Given the description of an element on the screen output the (x, y) to click on. 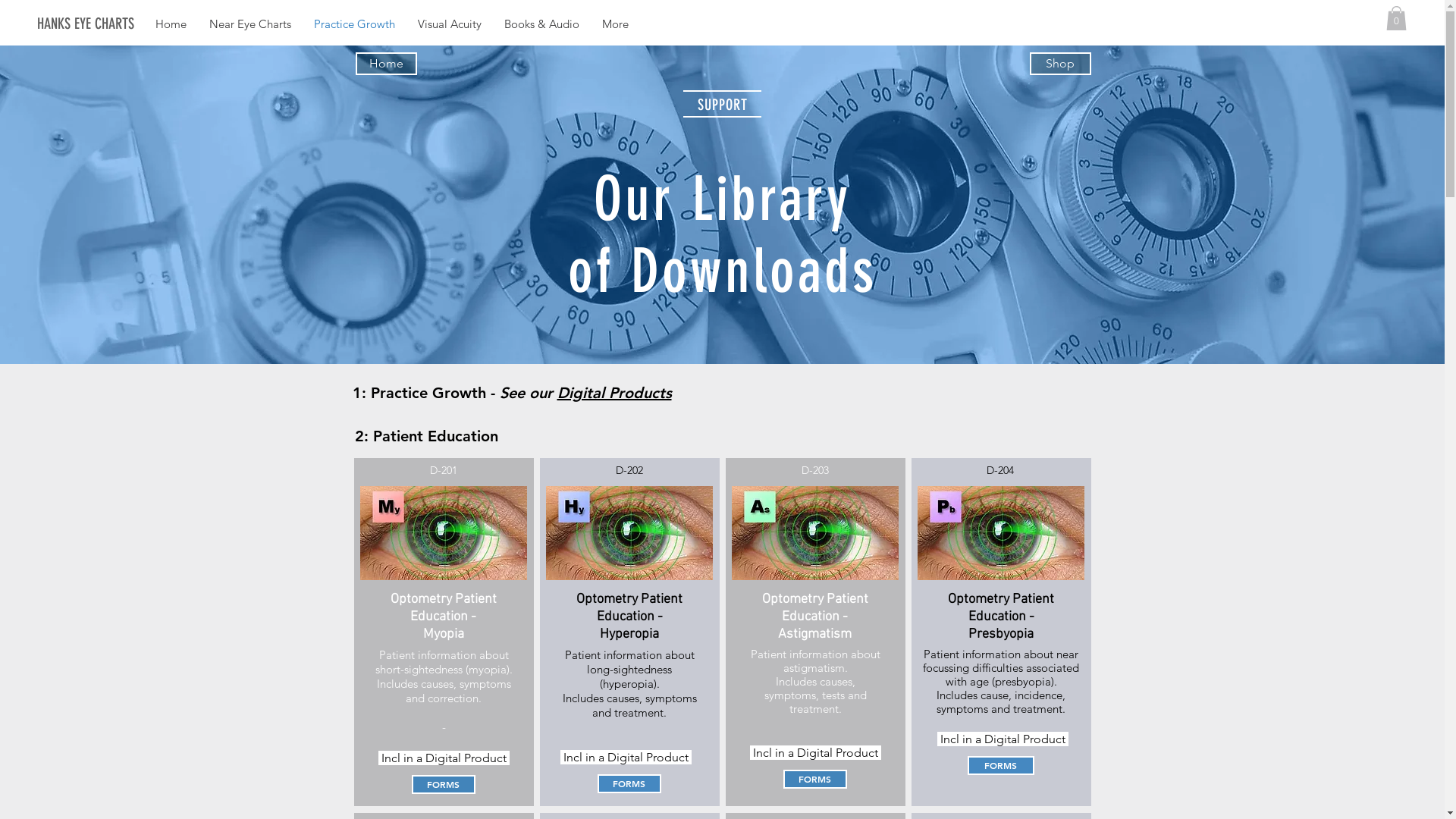
Shop Element type: text (1060, 63)
0 Element type: text (1396, 18)
FORMS Element type: text (629, 783)
HANKS EYE CHARTS Element type: text (113, 23)
Digital Products Element type: text (613, 392)
Practice Growth Element type: text (354, 24)
Visual Acuity Element type: text (449, 24)
FORMS Element type: text (814, 778)
Home Element type: text (170, 24)
FORMS Element type: text (1000, 765)
FORMS Element type: text (442, 784)
Near Eye Charts Element type: text (249, 24)
Home Element type: text (385, 63)
Books & Audio Element type: text (541, 24)
